Given the description of an element on the screen output the (x, y) to click on. 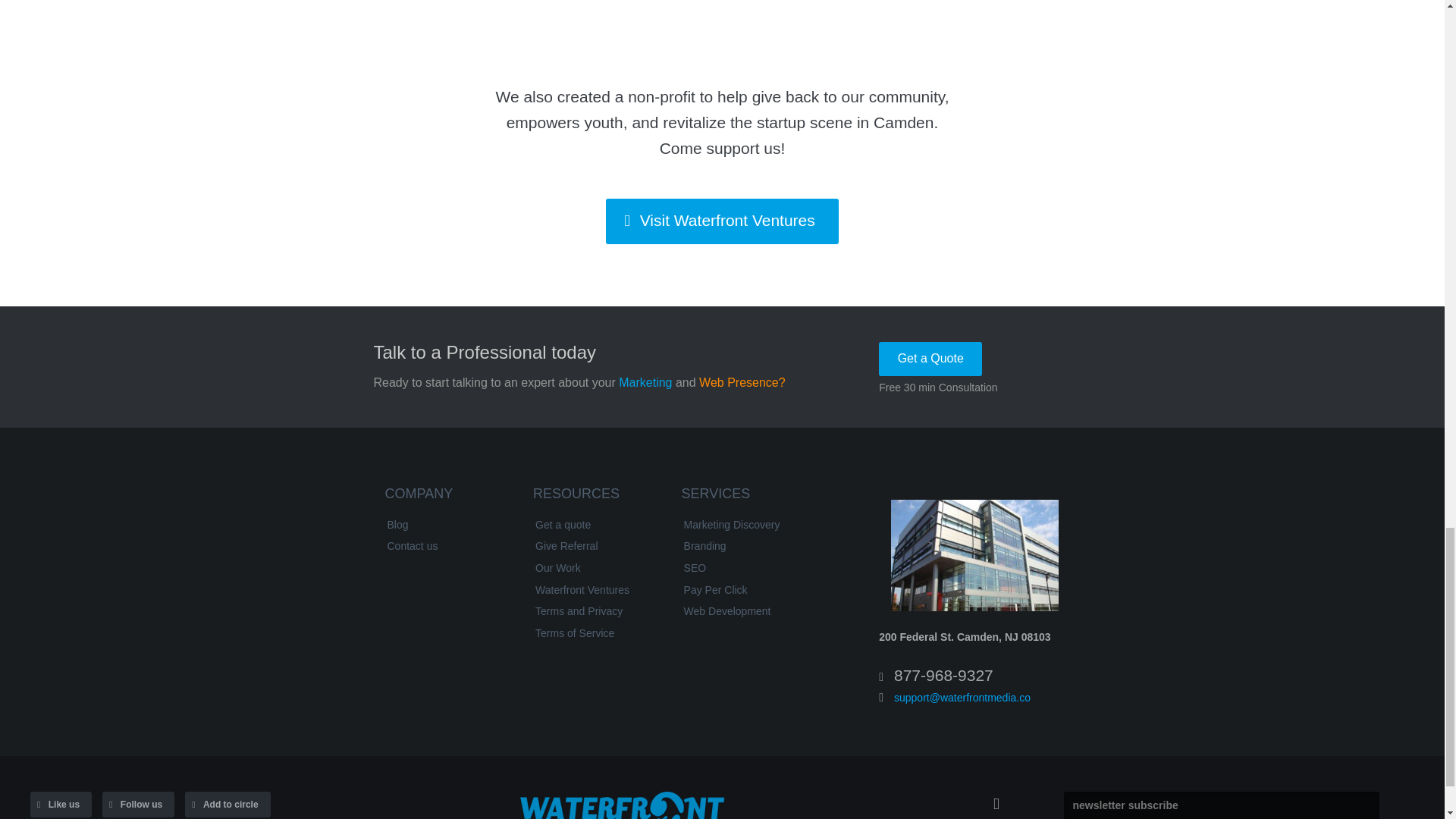
Visit Waterfront Ventures (722, 221)
Get a Quote (930, 358)
RESOURCES (593, 497)
COMPANY (445, 497)
Web Presence? (742, 382)
Contact us (442, 546)
Get a quote (591, 525)
Visit Waterfront Ventures (722, 221)
Marketing (644, 382)
Blog (442, 525)
